Given the description of an element on the screen output the (x, y) to click on. 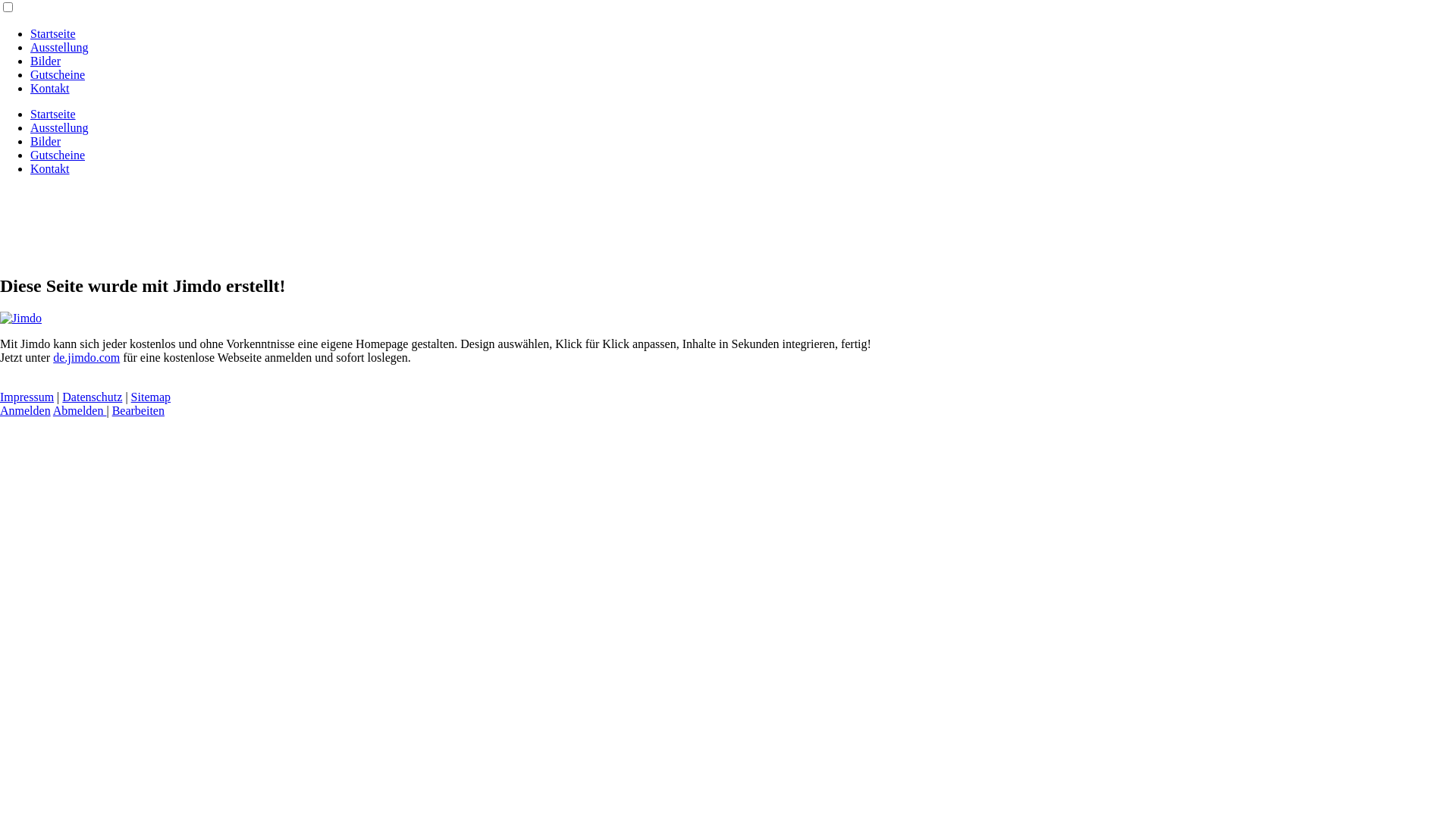
Abmelden Element type: text (79, 410)
Jimdo Element type: hover (20, 318)
Startseite Element type: text (52, 113)
Ausstellung Element type: text (58, 46)
Startseite Element type: text (52, 33)
Sitemap Element type: text (150, 396)
de.jimdo.com Element type: text (86, 357)
Bilder Element type: text (45, 140)
Gutscheine Element type: text (57, 74)
Datenschutz Element type: text (92, 396)
Gutscheine Element type: text (57, 154)
Impressum Element type: text (26, 396)
Bilder Element type: text (45, 60)
Bearbeiten Element type: text (138, 410)
Ausstellung Element type: text (58, 127)
Anmelden Element type: text (25, 410)
Kontakt Element type: text (49, 87)
Kontakt Element type: text (49, 168)
